Given the description of an element on the screen output the (x, y) to click on. 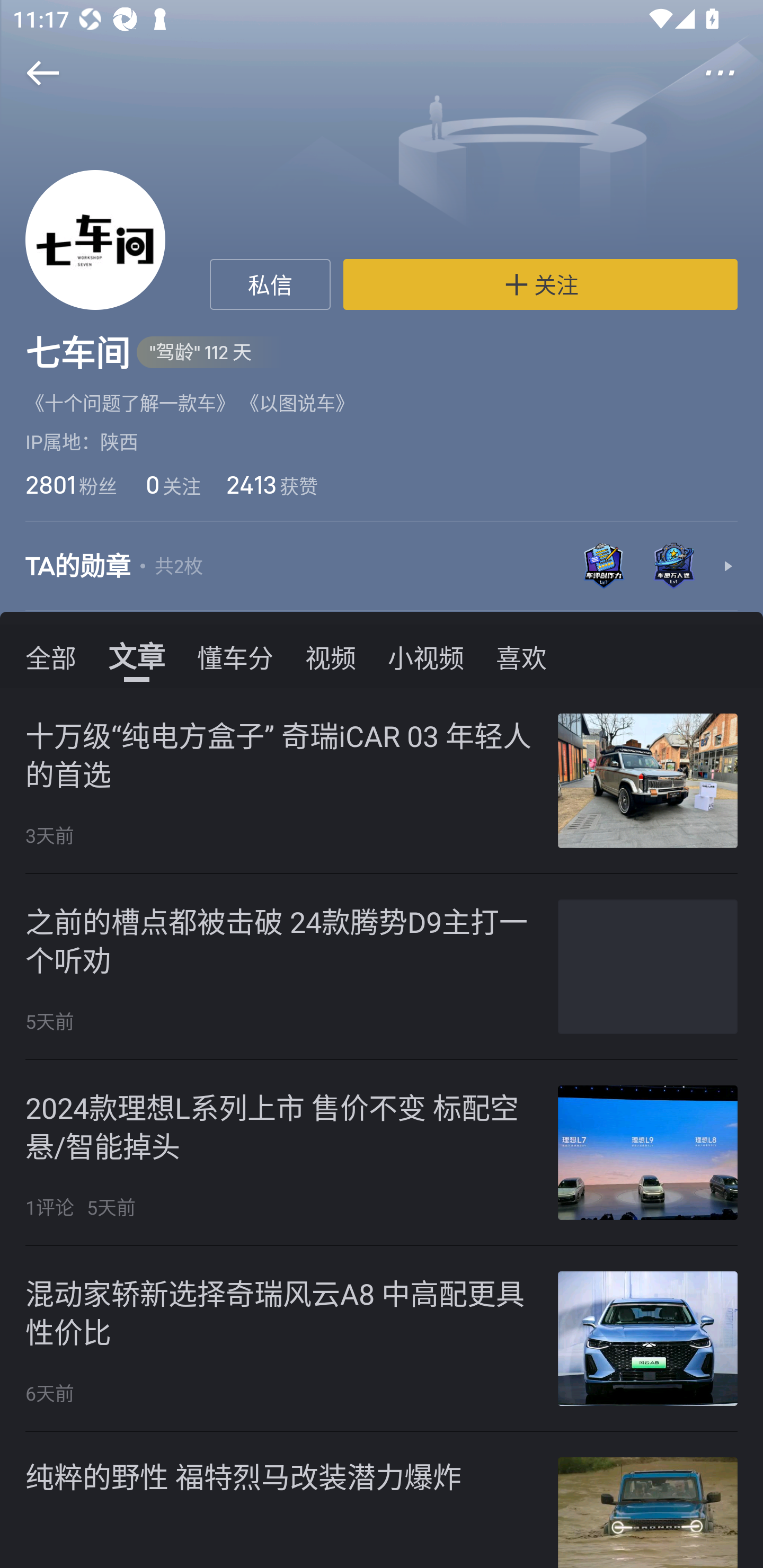
 (30, 72)
 (732, 72)
私信 (269, 284)
 关注 (540, 284)
"驾龄" 112 天 (209, 352)
2801 粉丝 (70, 484)
0 关注 (171, 484)
2413 获赞 (272, 484)
TA的勋章 共2枚  (381, 566)
全部 (50, 656)
文章 (136, 656)
懂车分 (234, 656)
视频 (330, 656)
小视频 (425, 656)
喜欢 (521, 656)
十万级“纯电方盒子” 奇瑞iCAR 03 年轻人的首选 3天前 (381, 780)
之前的槽点都被击破 24款腾势D9主打一个听劝 5天前 (381, 966)
2024款理想L系列上市 售价不变 标配空悬/智能掉头 1评论 5天前 (381, 1152)
混动家轿新选择奇瑞风云A8 中高配更具性价比 6天前 (381, 1338)
纯粹的野性 福特烈马改装潜力爆炸 8天前 (381, 1499)
